Given the description of an element on the screen output the (x, y) to click on. 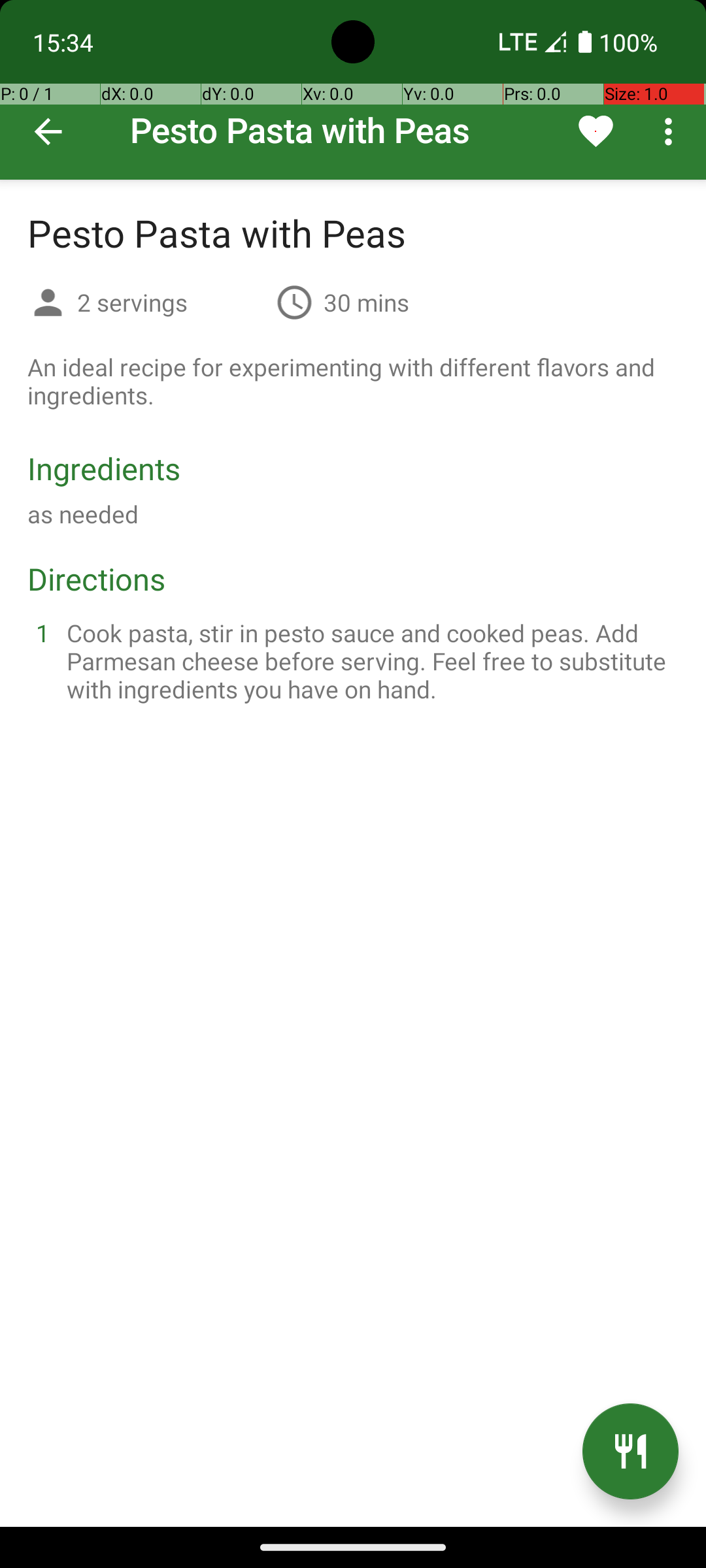
Cook pasta, stir in pesto sauce and cooked peas. Add Parmesan cheese before serving. Feel free to substitute with ingredients you have on hand. Element type: android.widget.TextView (368, 660)
